Given the description of an element on the screen output the (x, y) to click on. 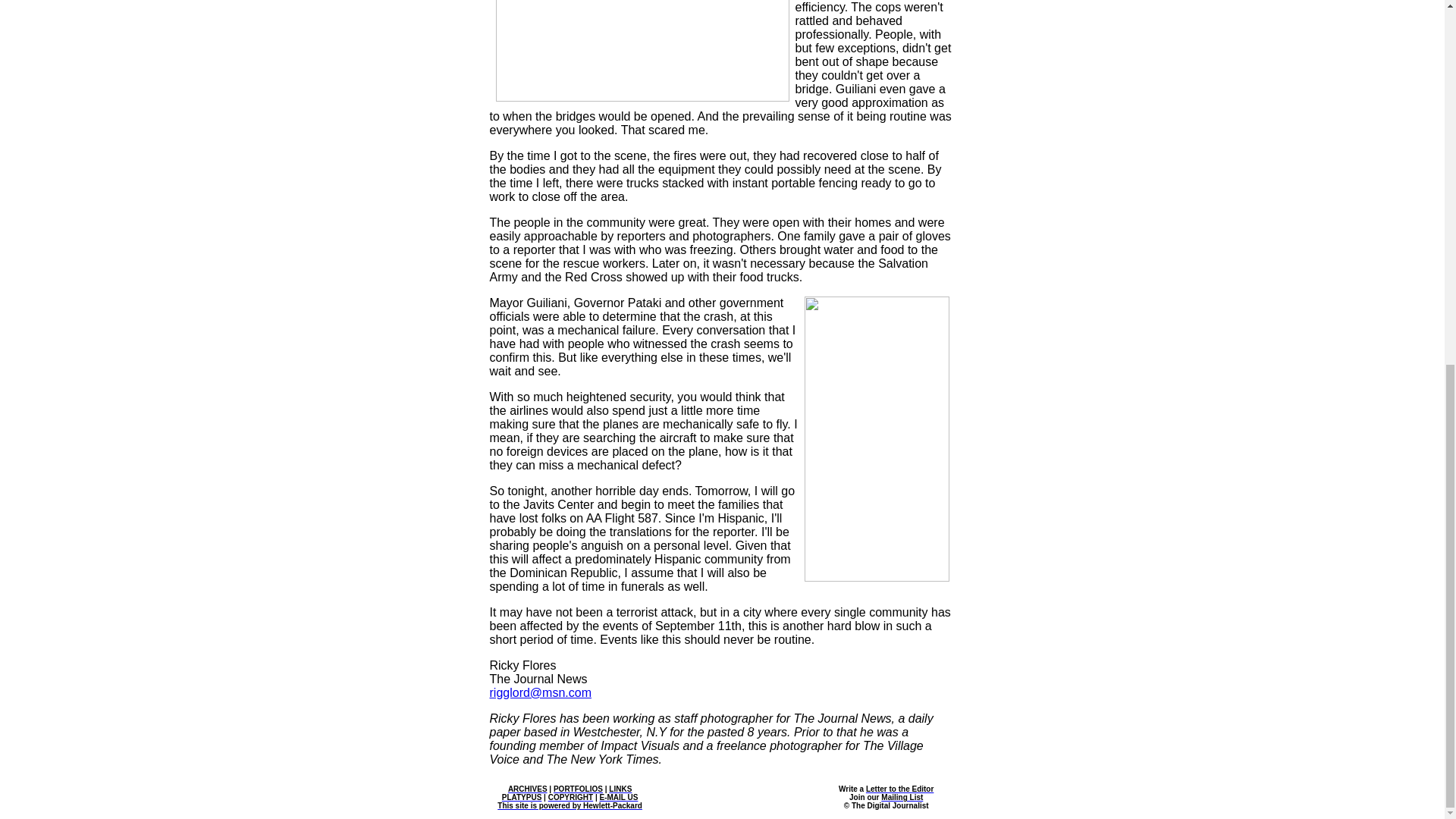
PLATYPUS (521, 797)
ARCHIVES (527, 788)
Letter to the Editor (899, 788)
LINKS (619, 788)
This site is powered by Hewlett-Packard (569, 805)
Mailing List (901, 797)
E-MAIL US (619, 797)
PORTFOLIOS (577, 788)
COPYRIGHT (570, 797)
